Given the description of an element on the screen output the (x, y) to click on. 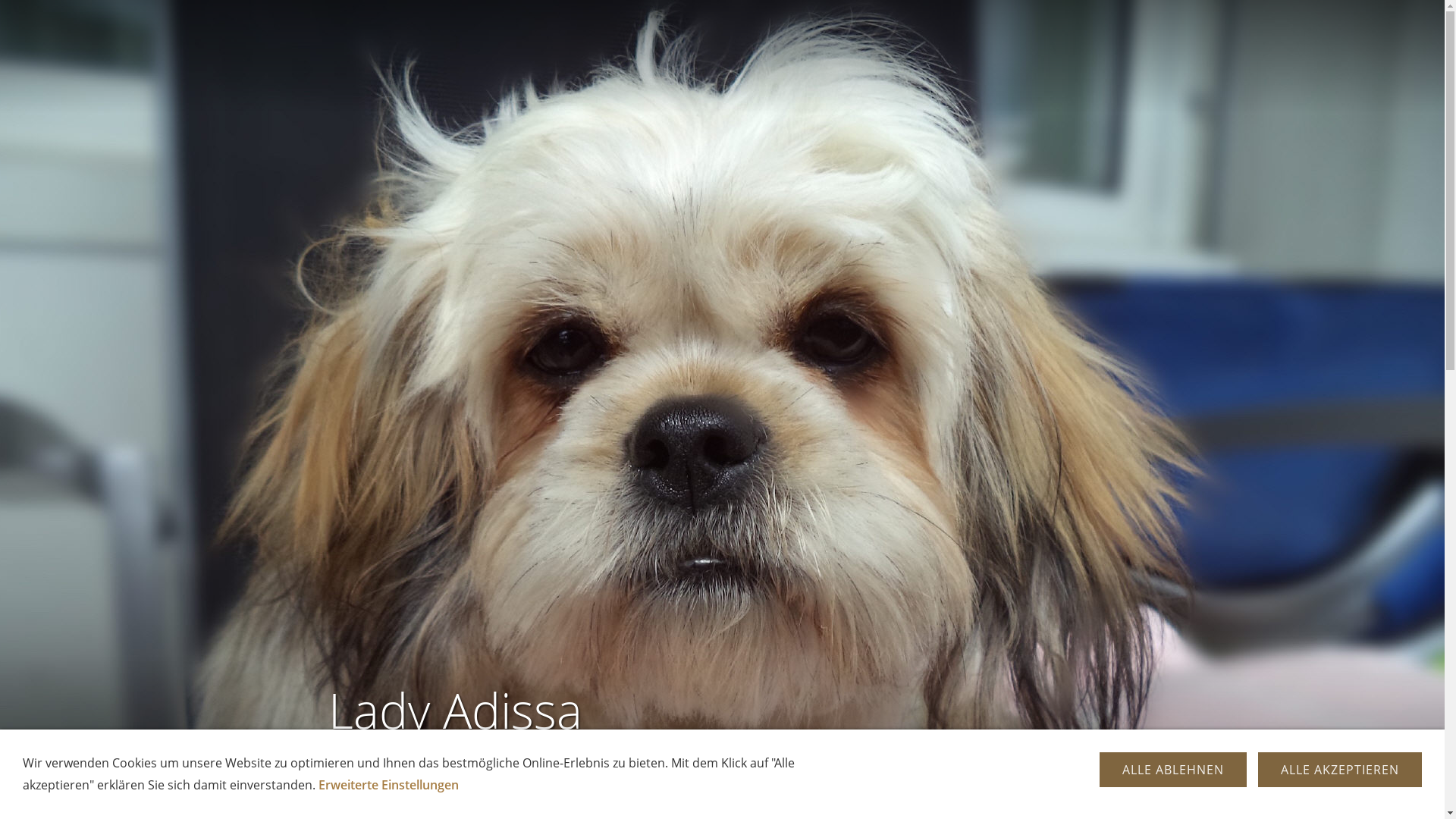
Erweiterte Einstellungen Element type: text (388, 784)
ALLE ABLEHNEN Element type: text (1172, 769)
ALLE AKZEPTIEREN Element type: text (1339, 769)
